Given the description of an element on the screen output the (x, y) to click on. 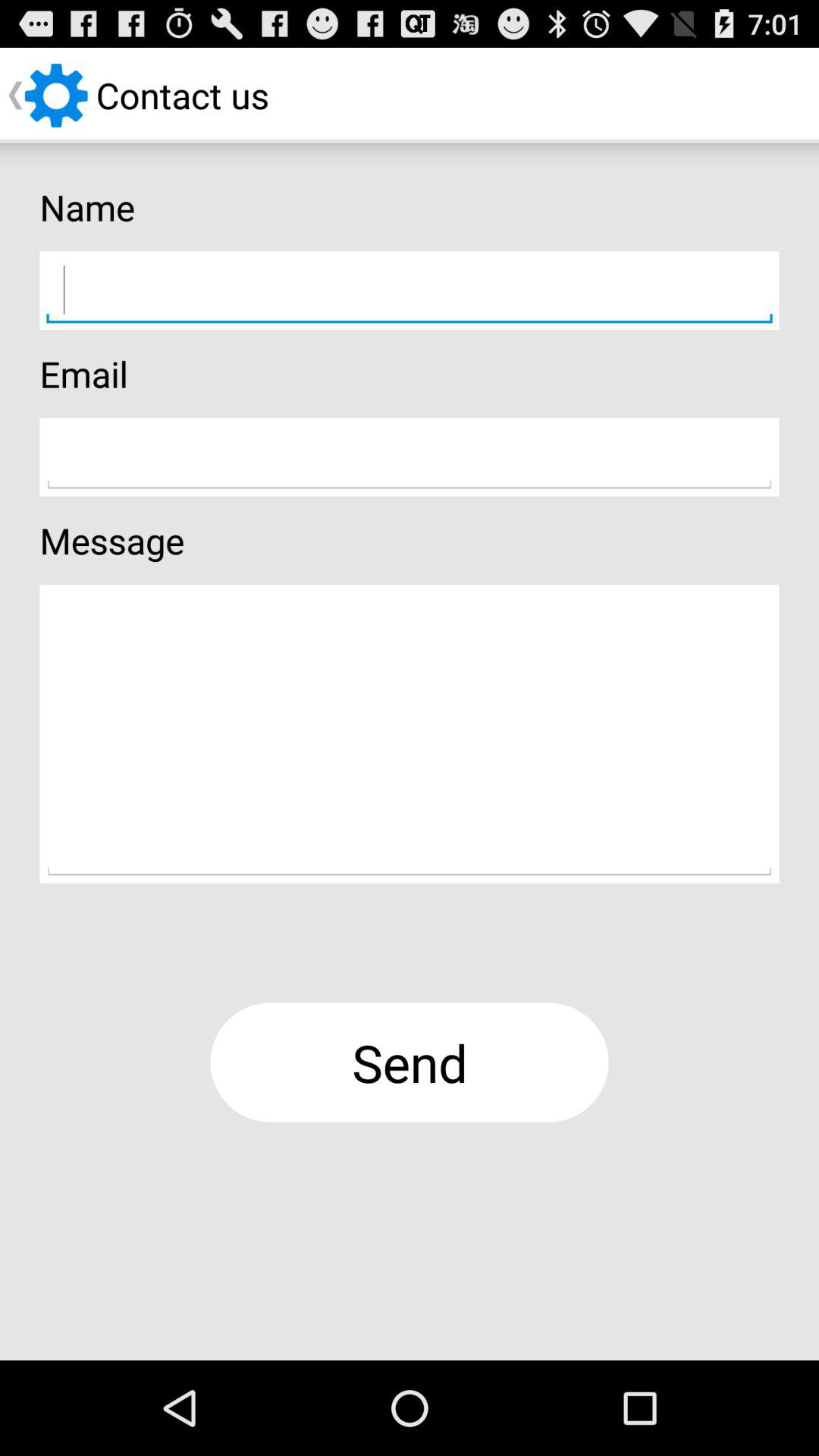
enter your name (409, 290)
